Given the description of an element on the screen output the (x, y) to click on. 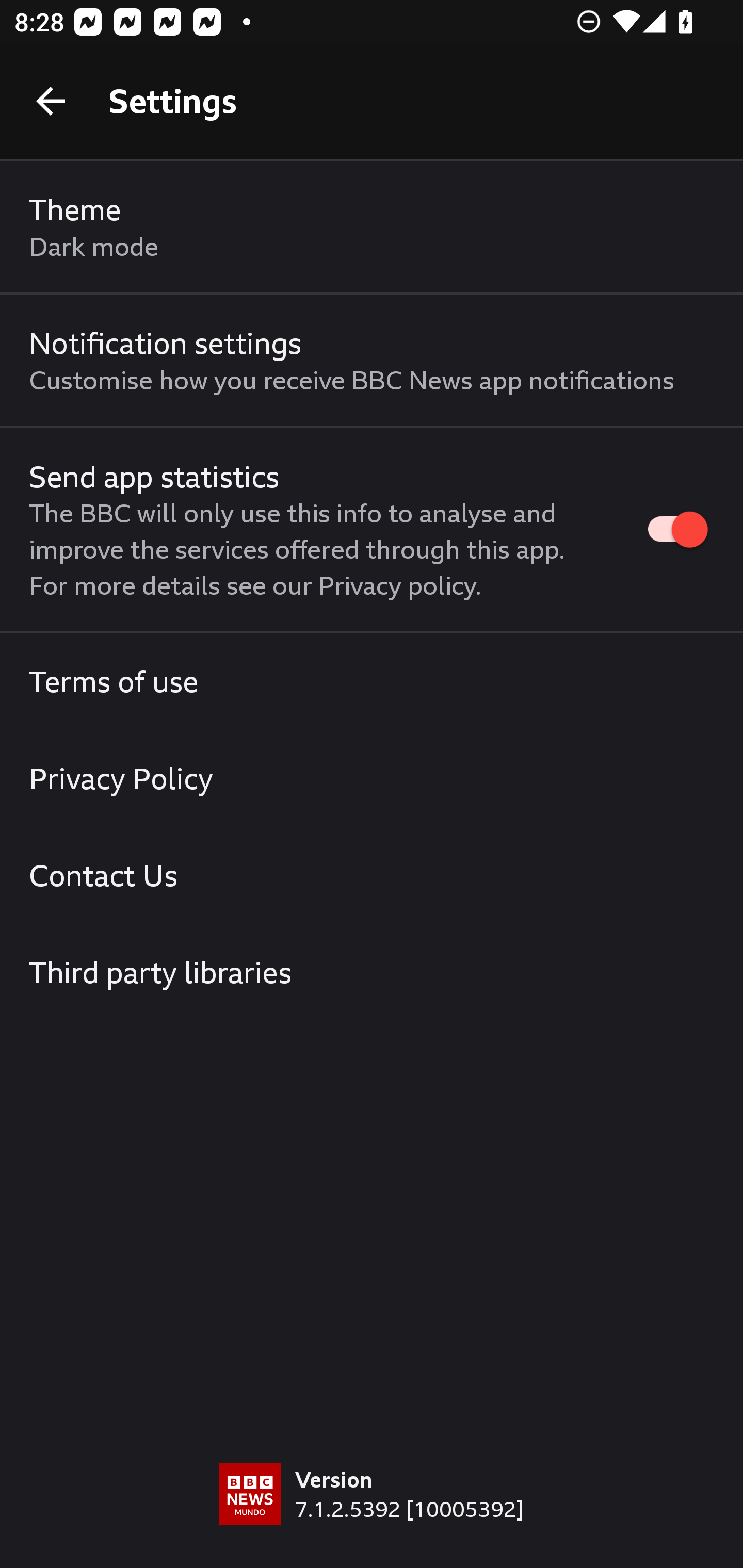
Back (50, 101)
Theme Dark mode (371, 227)
Terms of use (371, 681)
Privacy Policy (371, 777)
Contact Us (371, 874)
Third party libraries (371, 971)
Version 7.1.2.5392 [10005392] (371, 1515)
